Given the description of an element on the screen output the (x, y) to click on. 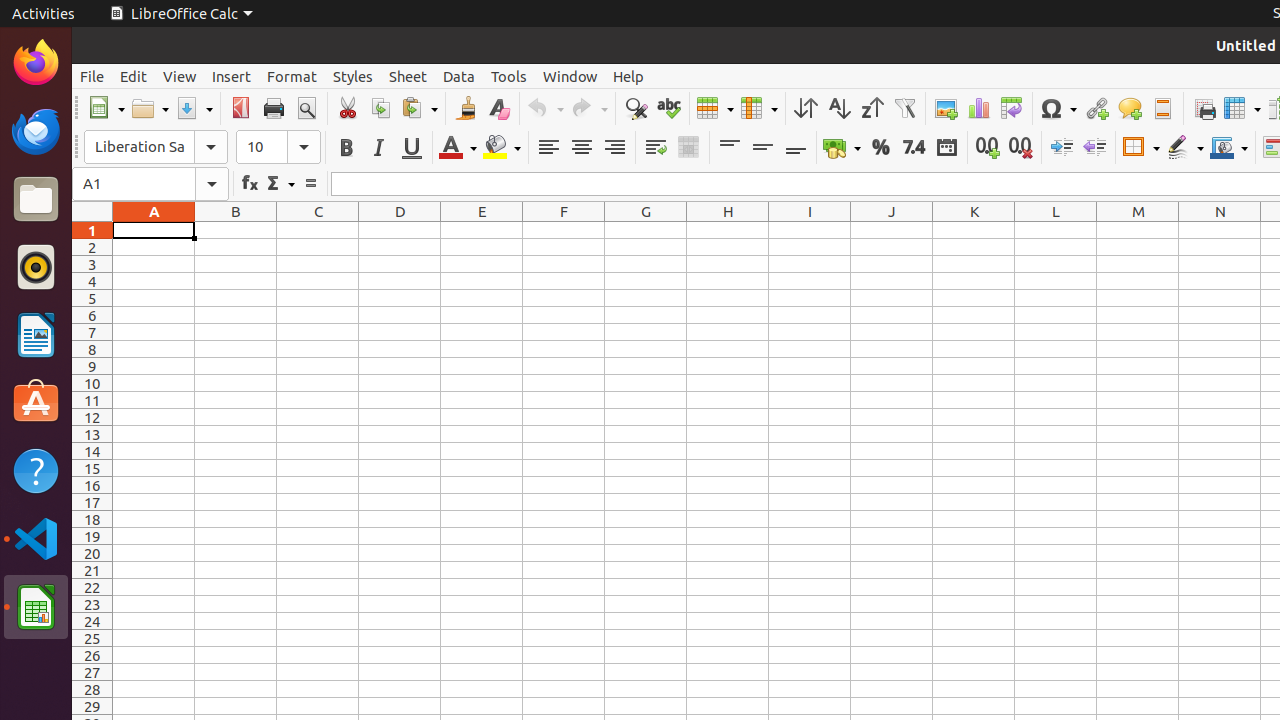
Help Element type: push-button (36, 470)
Align Bottom Element type: push-button (795, 147)
Tools Element type: menu (509, 76)
LibreOffice Calc Element type: push-button (36, 607)
Redo Element type: push-button (589, 108)
